Given the description of an element on the screen output the (x, y) to click on. 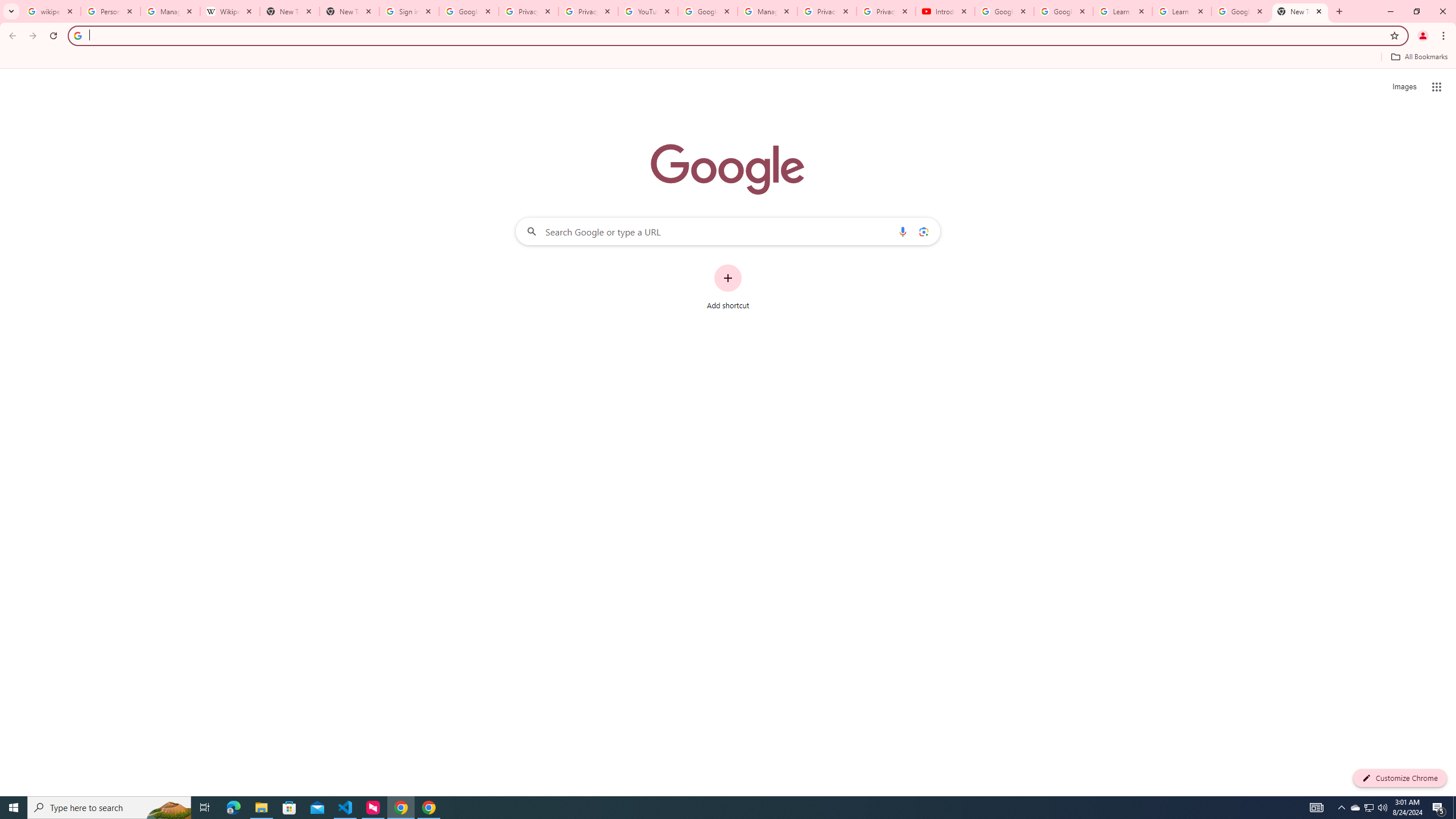
YouTube (647, 11)
All Bookmarks (1418, 56)
Wikipedia:Edit requests - Wikipedia (229, 11)
Google Account Help (1004, 11)
Google Account (1241, 11)
Google Drive: Sign-in (468, 11)
New Tab (1300, 11)
Sign in - Google Accounts (409, 11)
Search icon (77, 35)
